Given the description of an element on the screen output the (x, y) to click on. 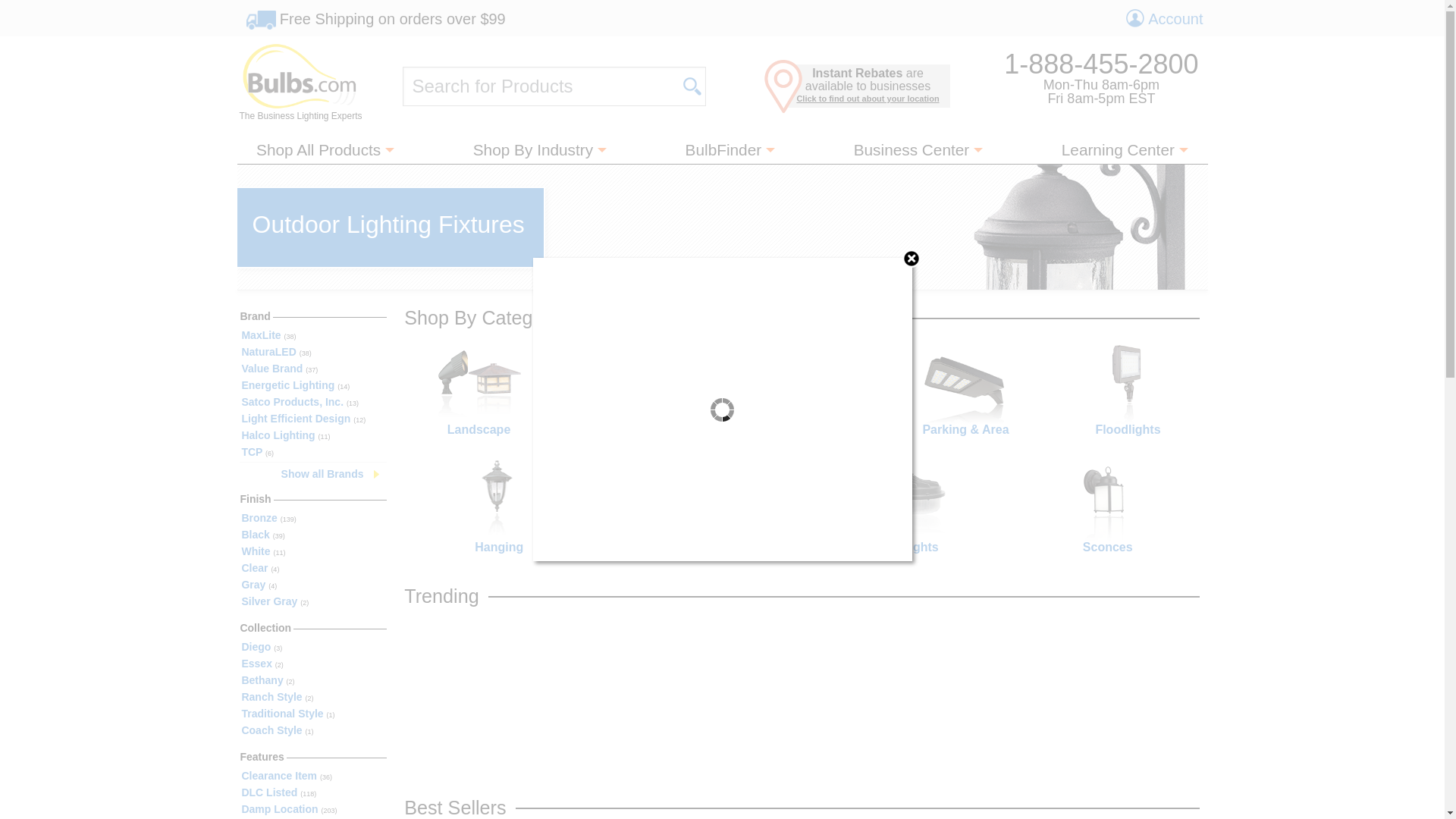
Brand: Light Efficient Design (313, 419)
Brand: MaxLite (313, 336)
Search for Products (540, 86)
Brand: Energetic Lighting (313, 386)
Brand: Value Brand (313, 369)
Brand: NaturaLED (313, 352)
Search for Products (540, 86)
The Business Lighting Experts (299, 82)
Account (1163, 18)
1-888-455-2800 (1101, 63)
